Given the description of an element on the screen output the (x, y) to click on. 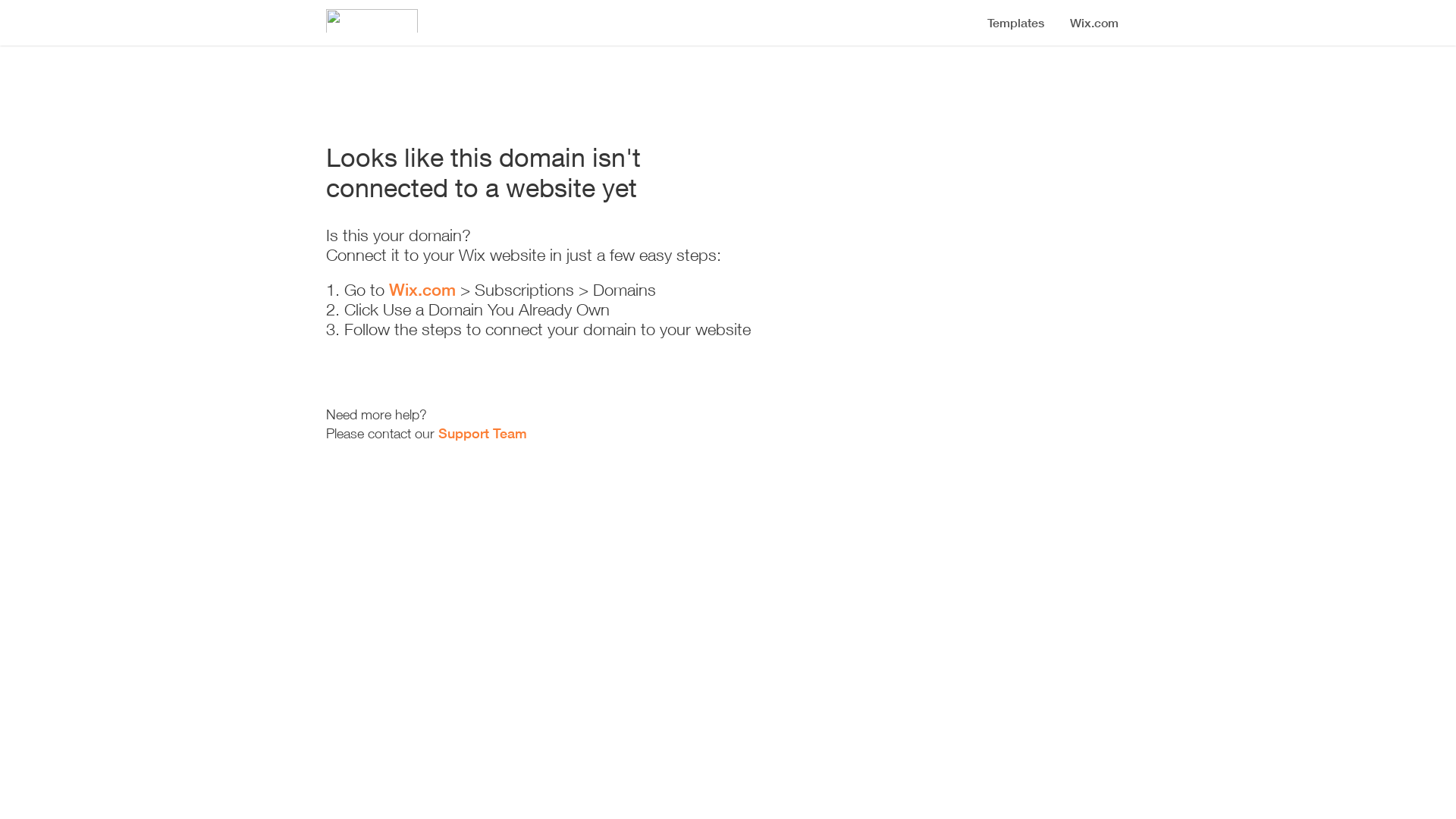
Wix.com Element type: text (422, 289)
Support Team Element type: text (482, 432)
